Given the description of an element on the screen output the (x, y) to click on. 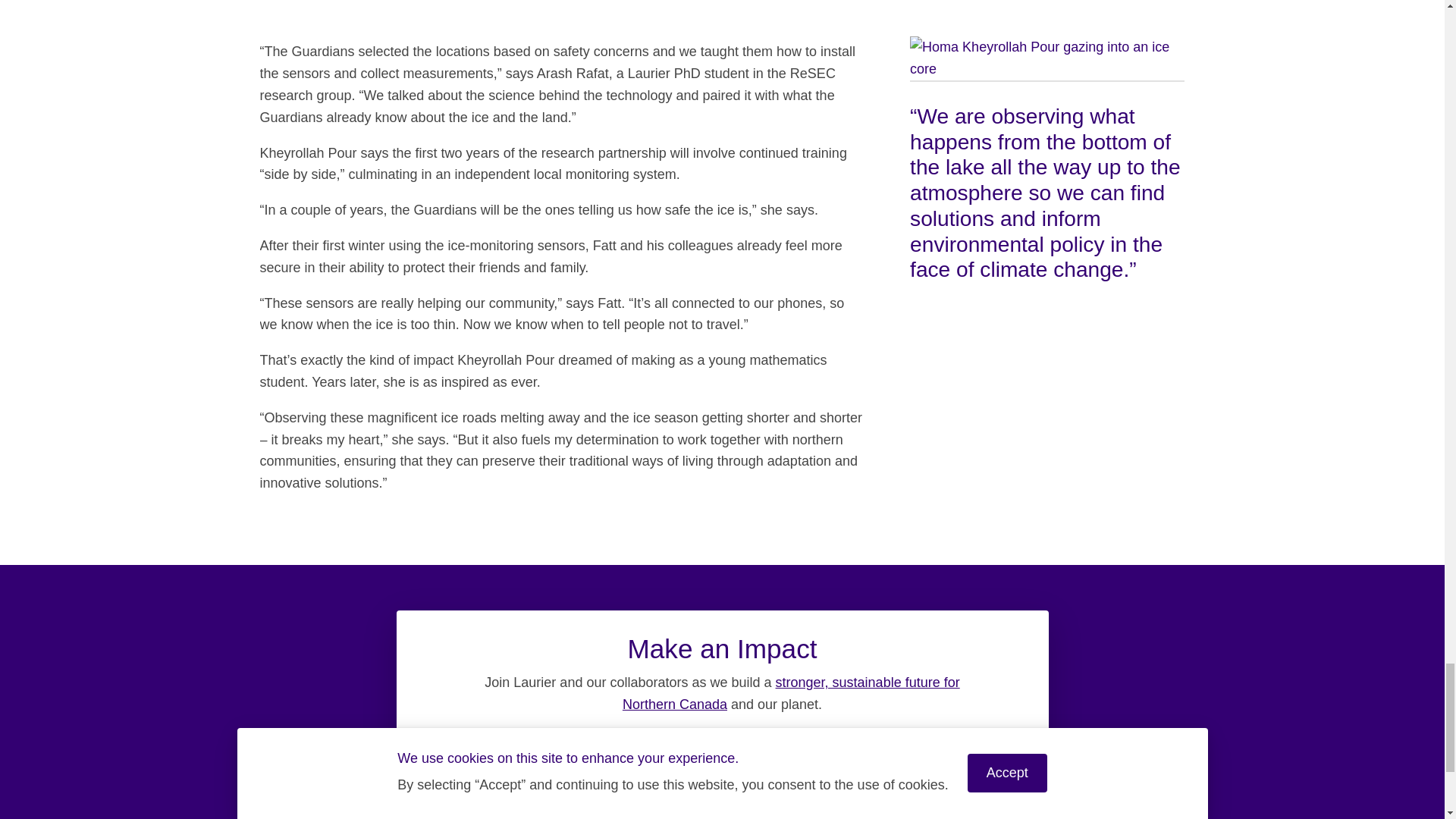
stronger, sustainable future for Northern Canada (791, 692)
For the Media (912, 763)
Donate Now (726, 763)
Partner with Us (535, 763)
